Given the description of an element on the screen output the (x, y) to click on. 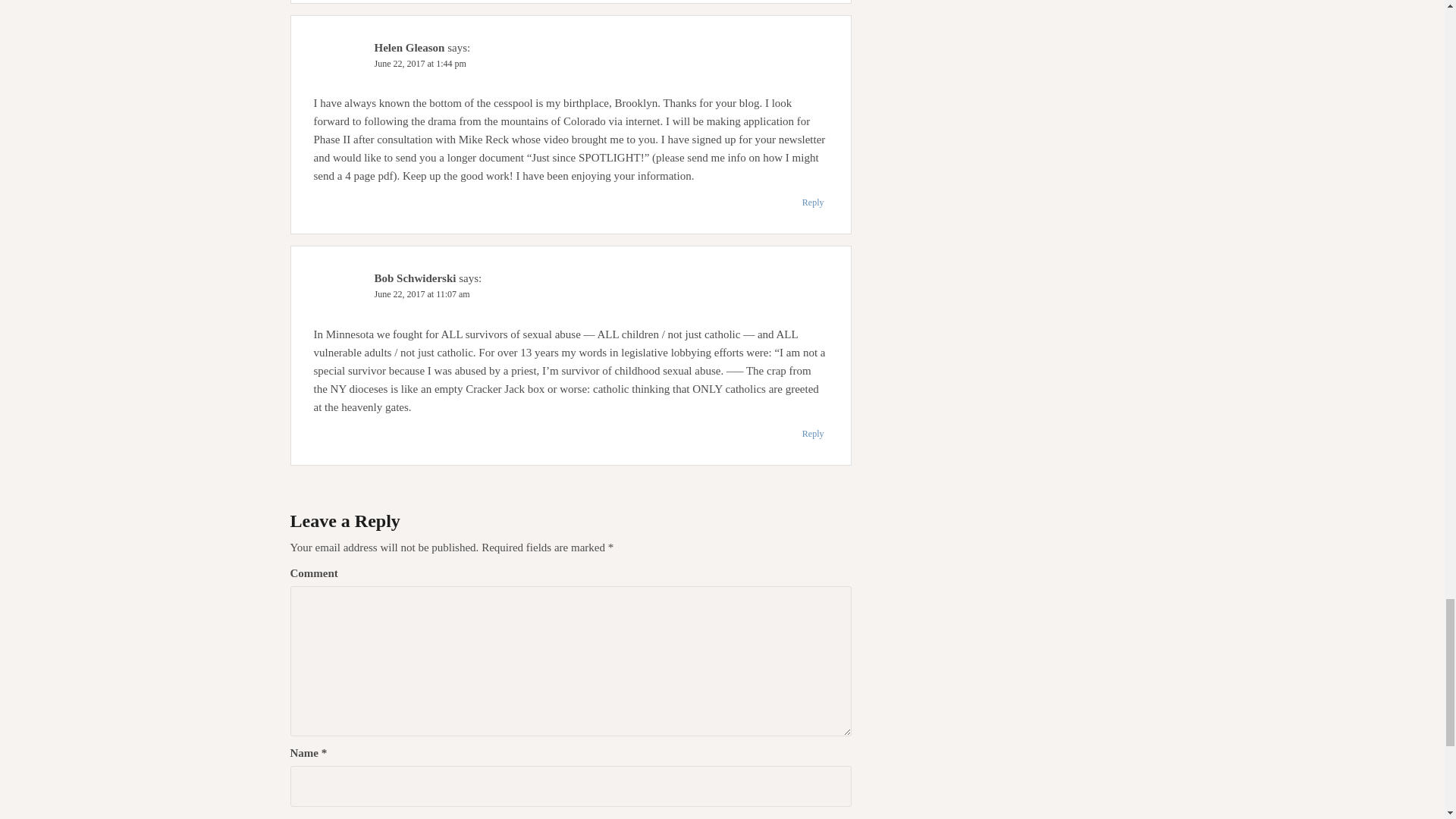
June 22, 2017 at 1:44 pm (419, 63)
June 22, 2017 at 11:07 am (422, 294)
Reply (812, 434)
Reply (812, 202)
